Given the description of an element on the screen output the (x, y) to click on. 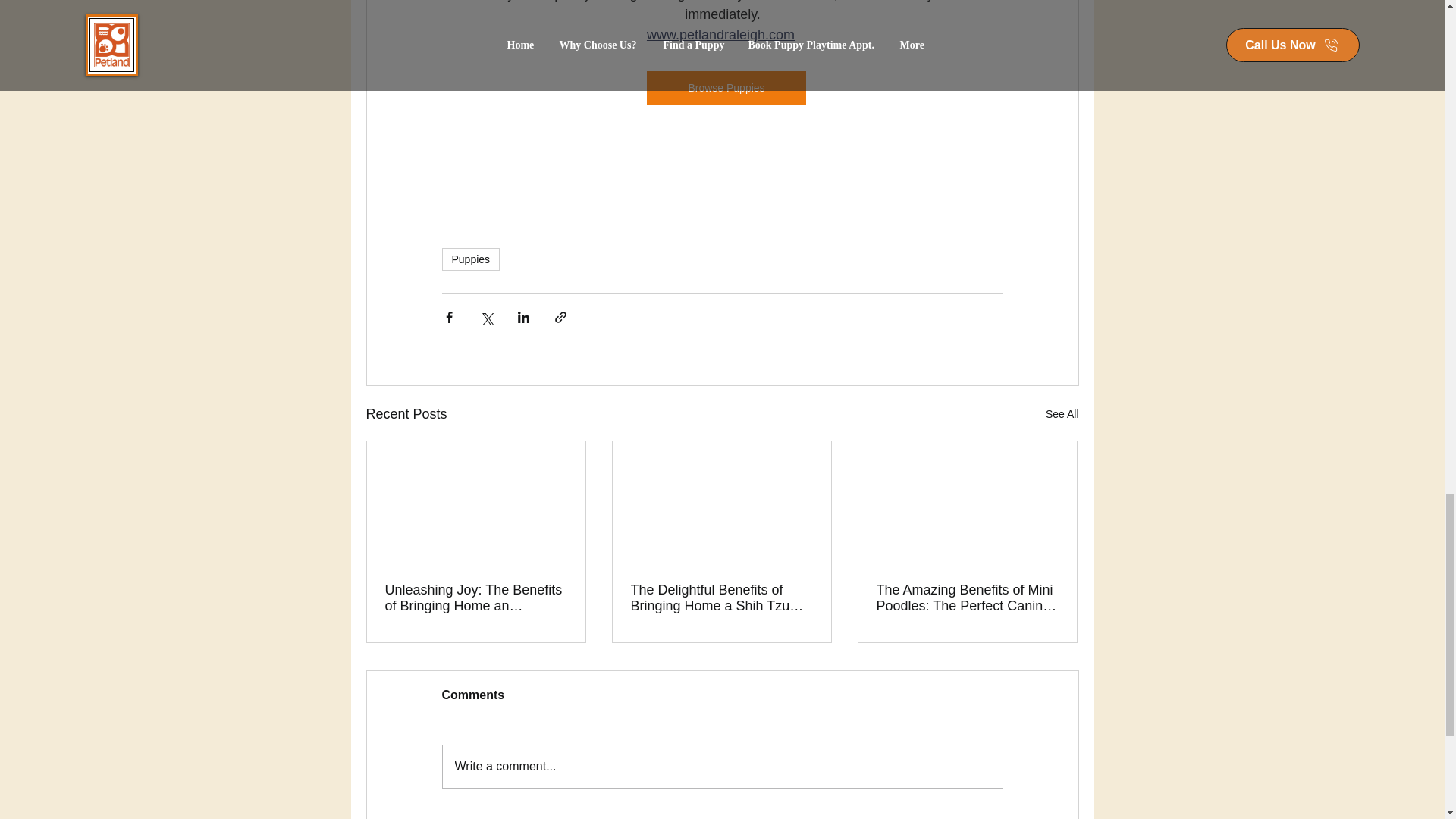
The Delightful Benefits of Bringing Home a Shih Tzu Puppy! (721, 598)
Browse Puppies (725, 88)
Write a comment... (722, 766)
See All (1061, 414)
Puppies (470, 259)
www.petlandraleigh.com (719, 34)
